Given the description of an element on the screen output the (x, y) to click on. 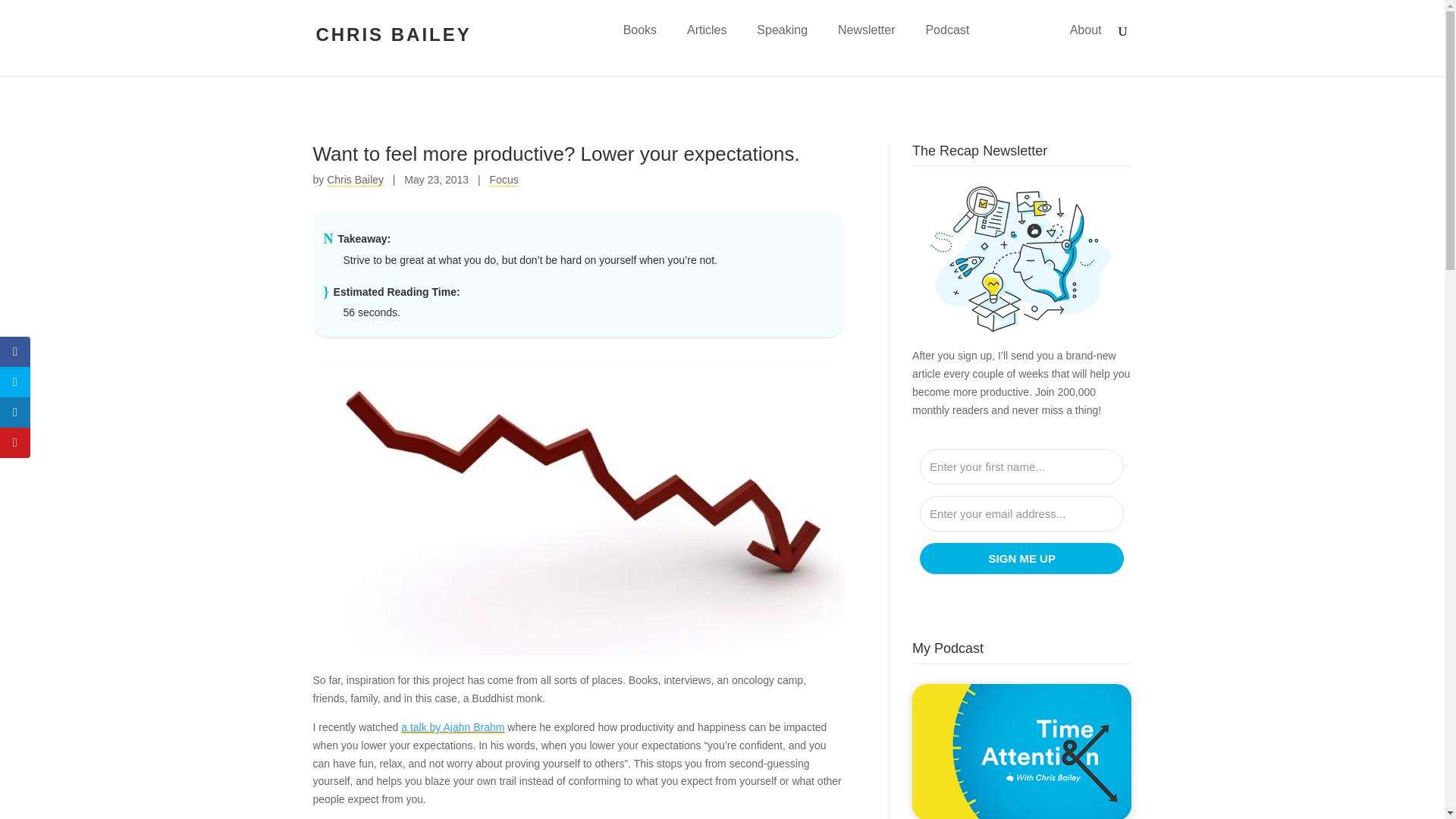
SIGN ME UP (1022, 558)
Chris Bailey (355, 179)
CHRIS BAILEY (392, 37)
a talk by Ajahn Brahm (452, 727)
Podcast (946, 42)
Posts by Chris Bailey (355, 179)
About (1086, 42)
Newsletter (866, 42)
Articles (706, 42)
Books (639, 42)
Focus (503, 179)
Speaking (782, 42)
